Given the description of an element on the screen output the (x, y) to click on. 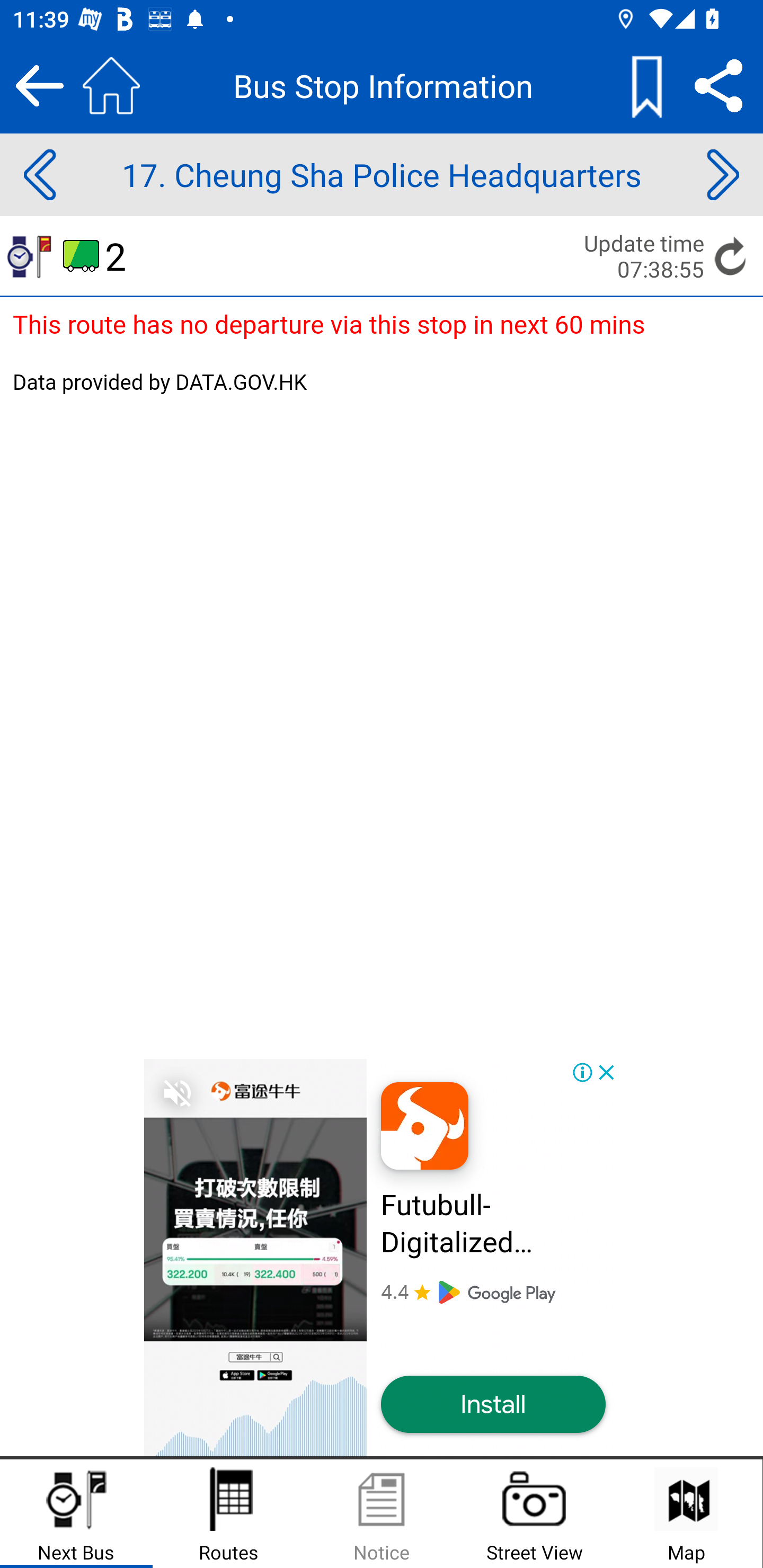
Jump to home page (111, 85)
Add bookmark (646, 85)
Share point to point route search criteria) (718, 85)
Back (39, 85)
Previous stop (39, 174)
Next stop (723, 174)
Refresh (731, 255)
Install (492, 1404)
Next Bus (76, 1513)
Routes (228, 1513)
Notice (381, 1513)
Street View (533, 1513)
Map (686, 1513)
